Given the description of an element on the screen output the (x, y) to click on. 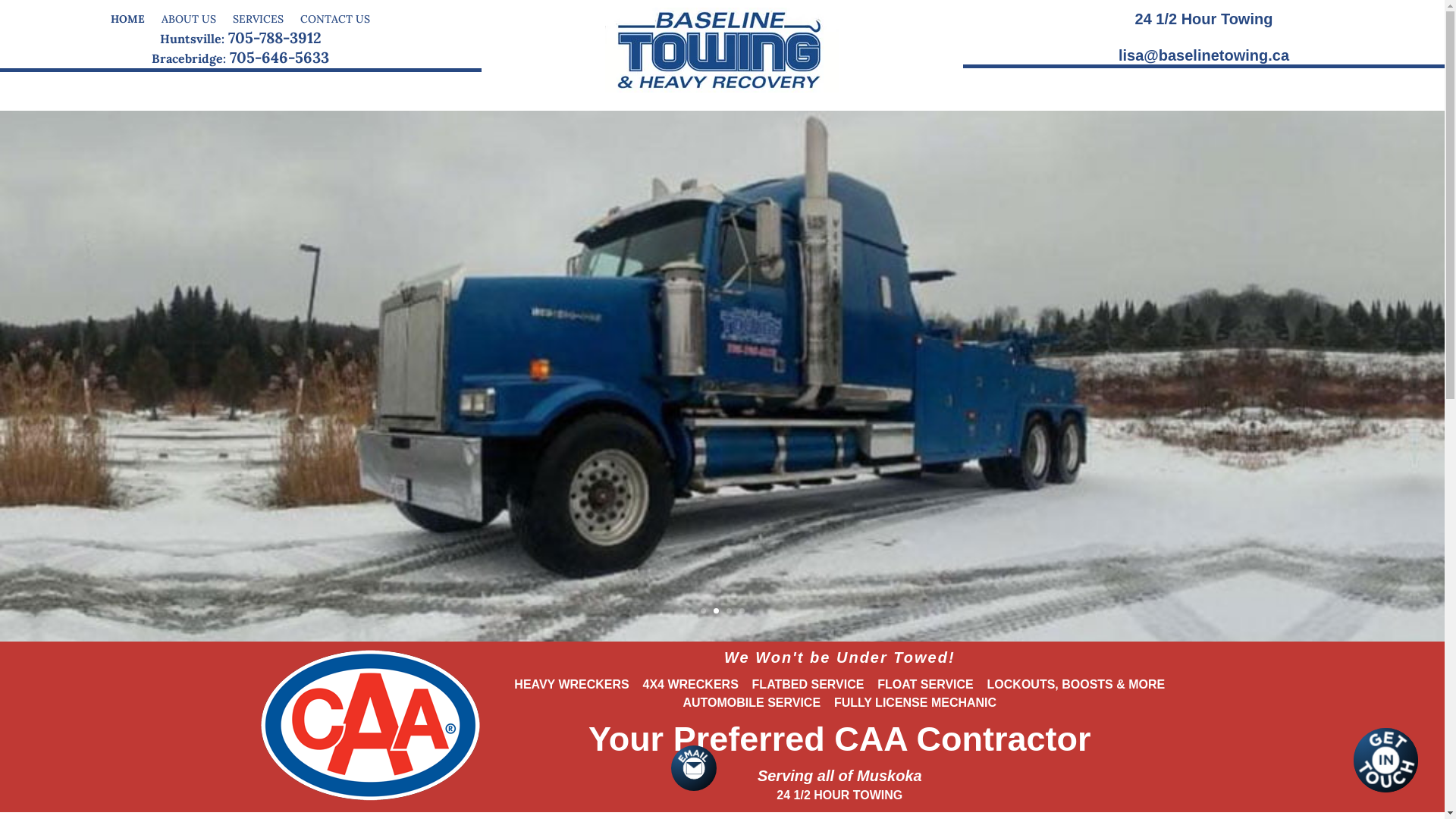
CONTACT US Element type: text (334, 14)
lisa@baselinetowing.ca Element type: text (1203, 55)
4 Element type: text (740, 610)
Bracebridge: 705-646-5633 Element type: text (240, 56)
3 Element type: text (728, 610)
SERVICES Element type: text (257, 14)
Huntsville: 705-788-3912 Element type: text (240, 37)
1 Element type: text (703, 610)
2 Element type: text (715, 610)
HOME Element type: text (127, 14)
ABOUT US Element type: text (188, 14)
